Given the description of an element on the screen output the (x, y) to click on. 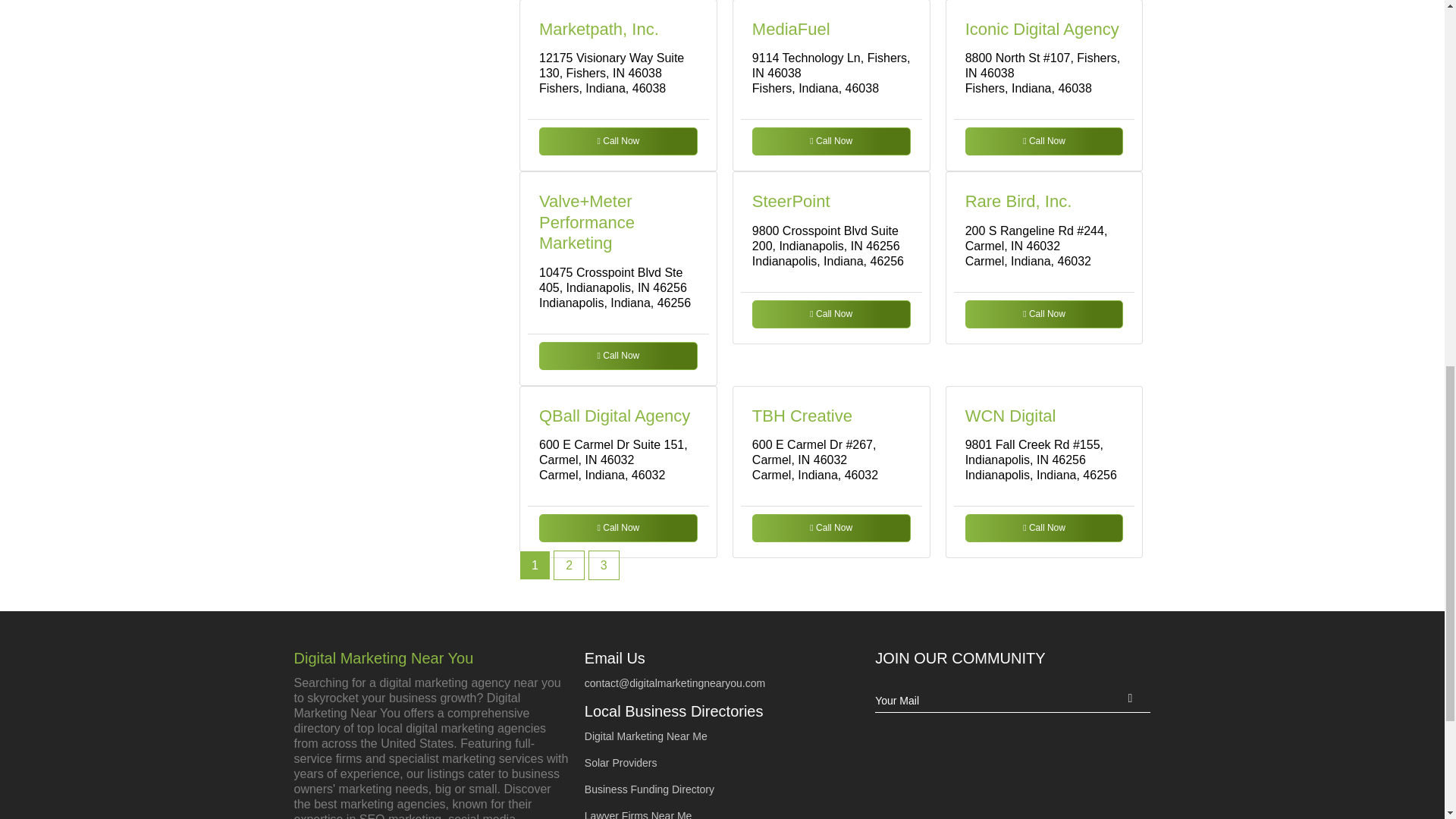
Call Now (1044, 528)
QBall Digital Agency (614, 415)
Lawyer Firms Near Me (639, 814)
TBH Creative (801, 415)
SteerPoint (790, 200)
Digital Marketing Near You (431, 658)
Call Now (617, 355)
Rare Bird, Inc. (1018, 200)
Call Now (617, 141)
Call Now (1044, 314)
